Given the description of an element on the screen output the (x, y) to click on. 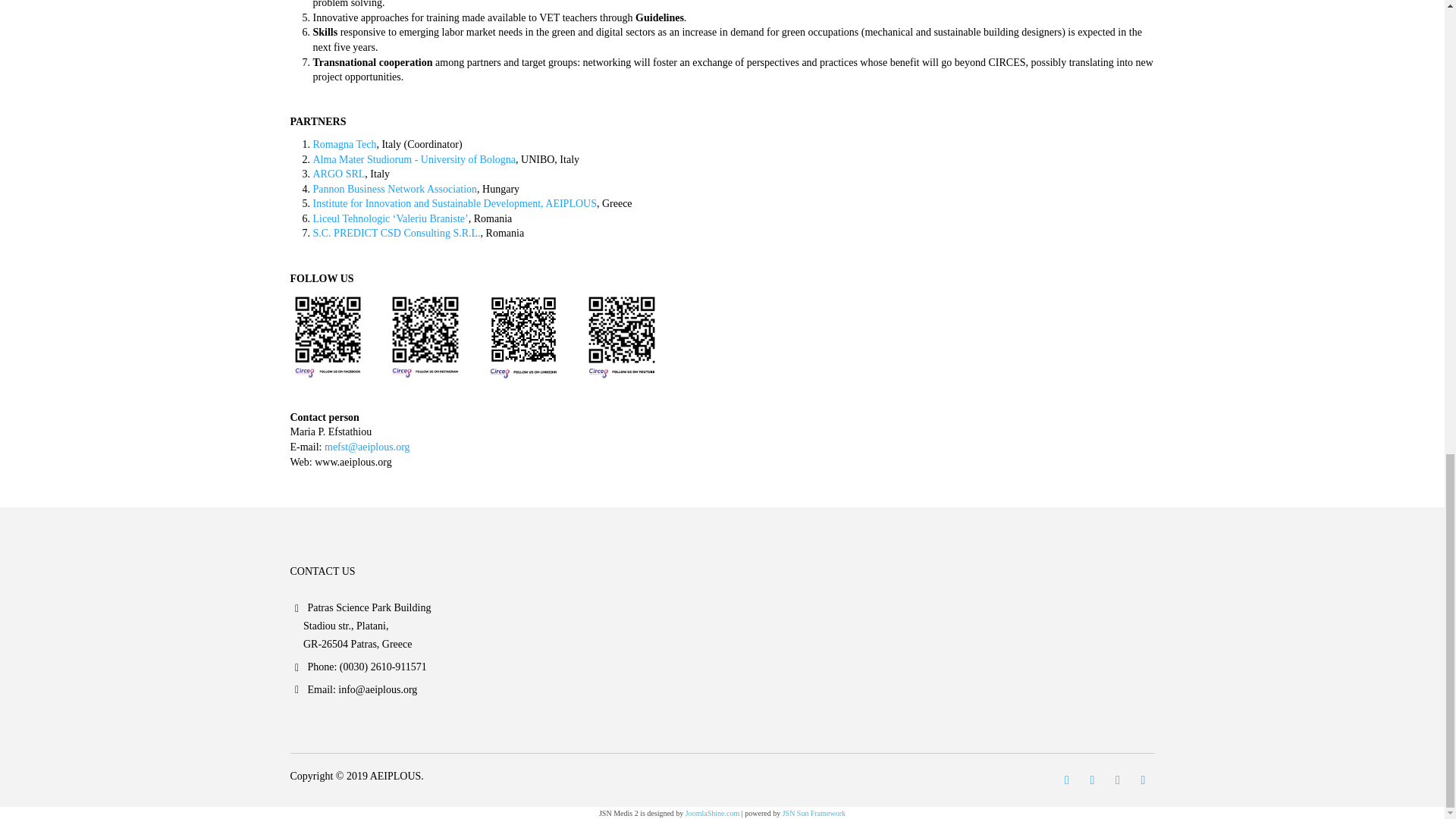
Pannon Business Network Association (395, 188)
ARGO SRL (339, 173)
S.C. PREDICT CSD Consulting S.R.L. (396, 233)
Romagna Tech (344, 143)
Alma Mater Studiorum - University of Bologna (414, 159)
JSN Sun Framework is the best Joomla template framework (814, 813)
